Given the description of an element on the screen output the (x, y) to click on. 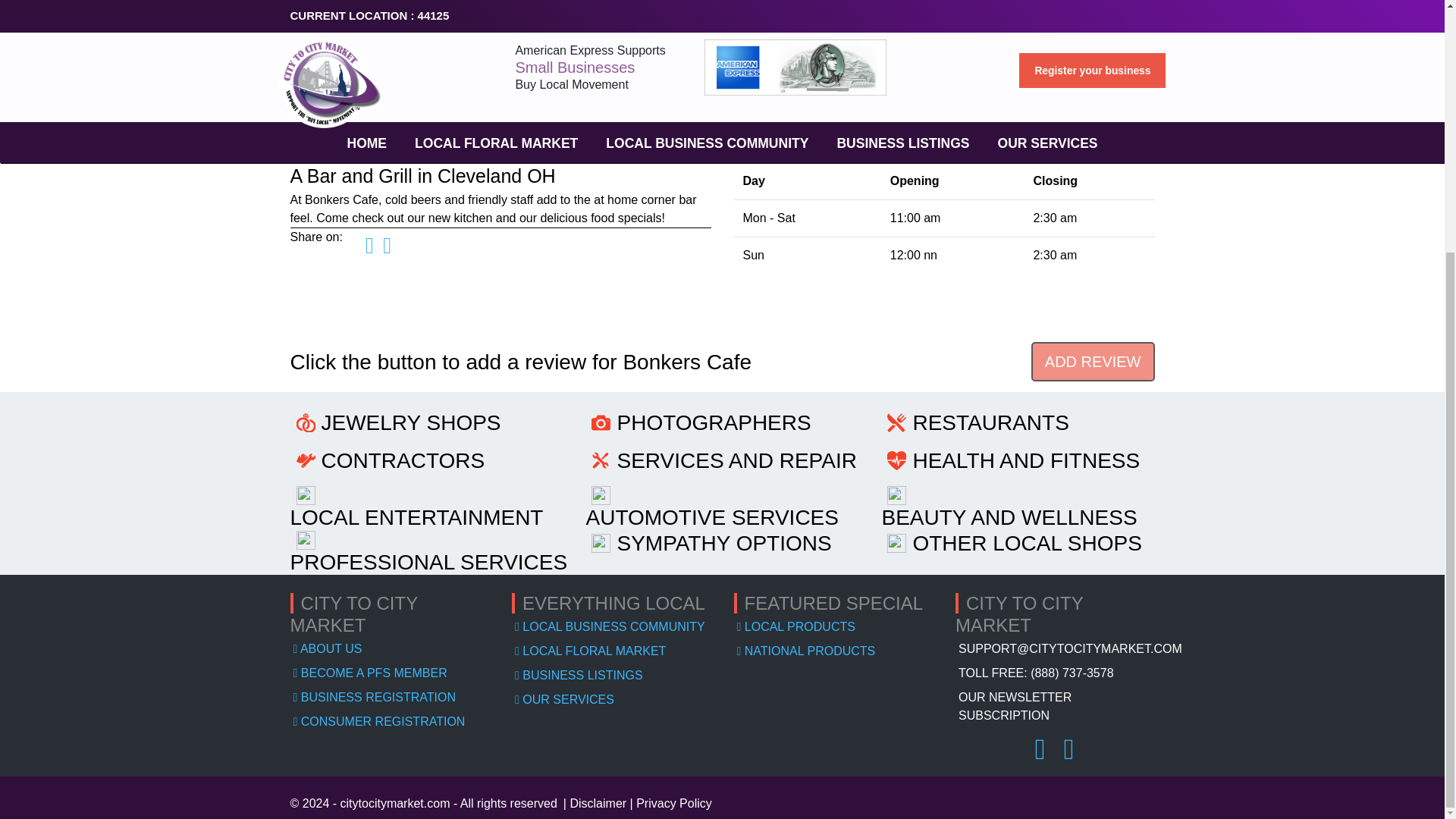
PHOTOGRAPHERS (712, 422)
RESTAURANTS (990, 422)
CONTRACTORS (402, 460)
SERVICES AND REPAIR (735, 460)
ADD REVIEW (1092, 361)
Claim this Company (465, 3)
click to zoom-in (906, 15)
JEWELRY SHOPS (410, 422)
